Given the description of an element on the screen output the (x, y) to click on. 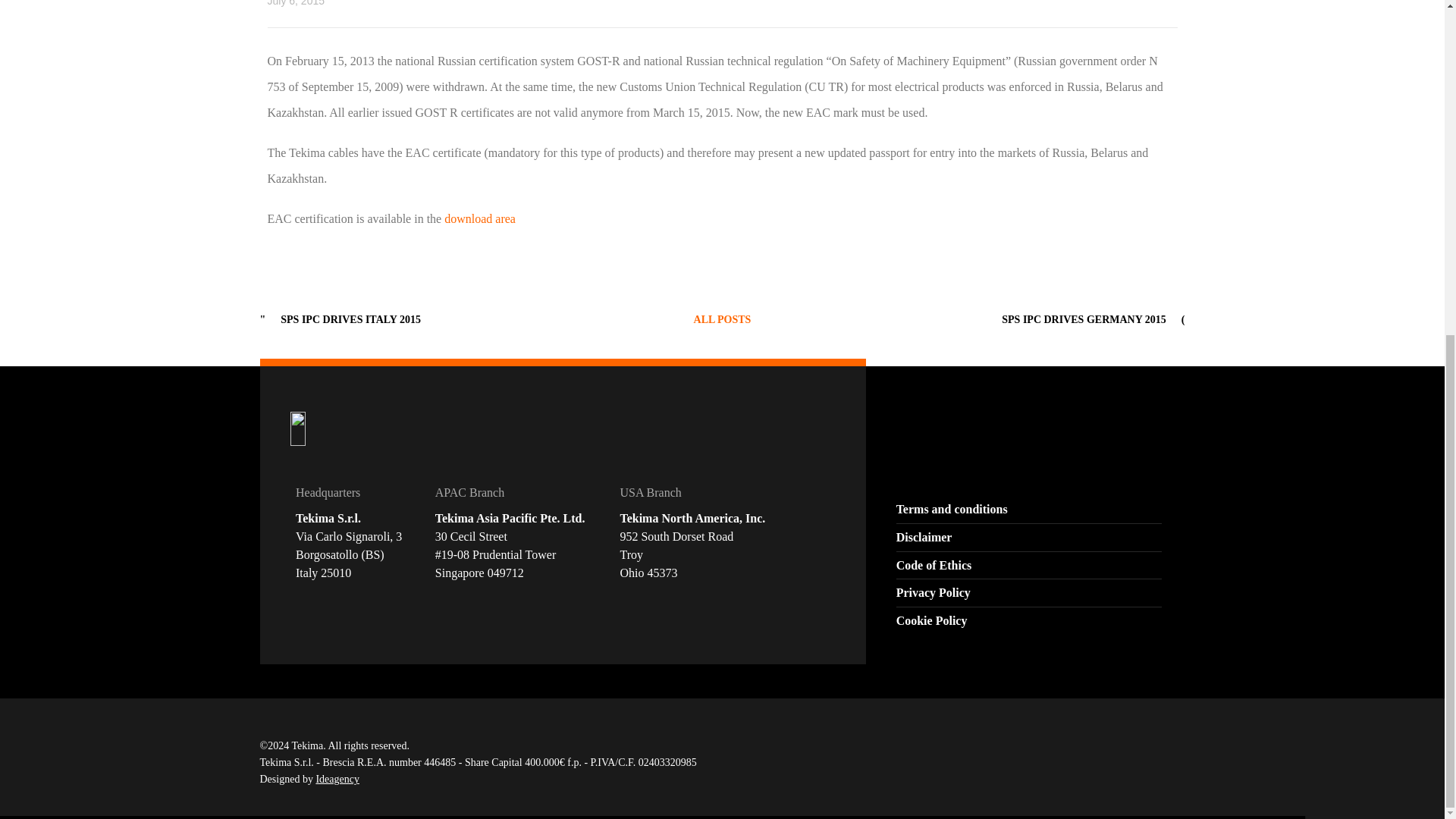
SPS IPC Drives Germany 2015 (1083, 319)
SPS IPC Drives Italy 2015 (350, 319)
News (722, 319)
